Given the description of an element on the screen output the (x, y) to click on. 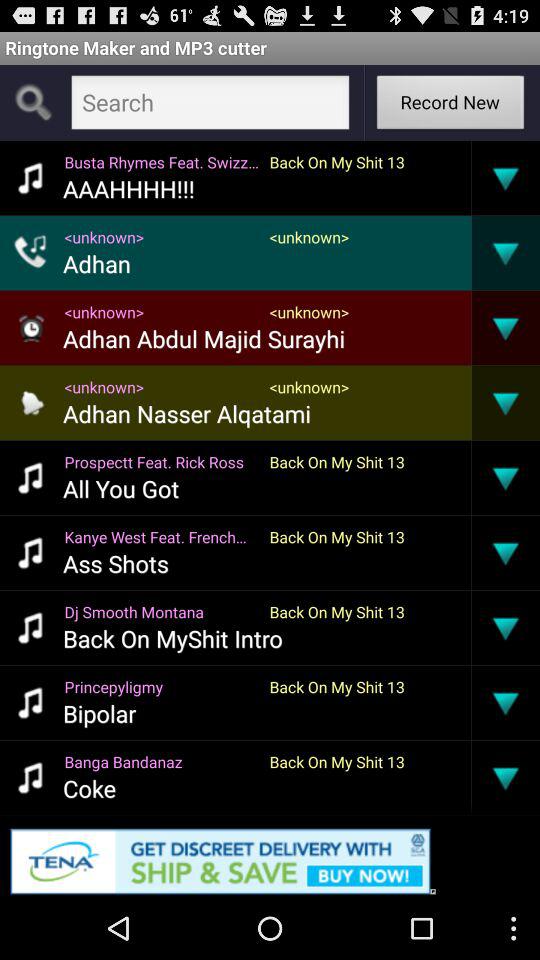
tap the item to the right of back on my (471, 627)
